Given the description of an element on the screen output the (x, y) to click on. 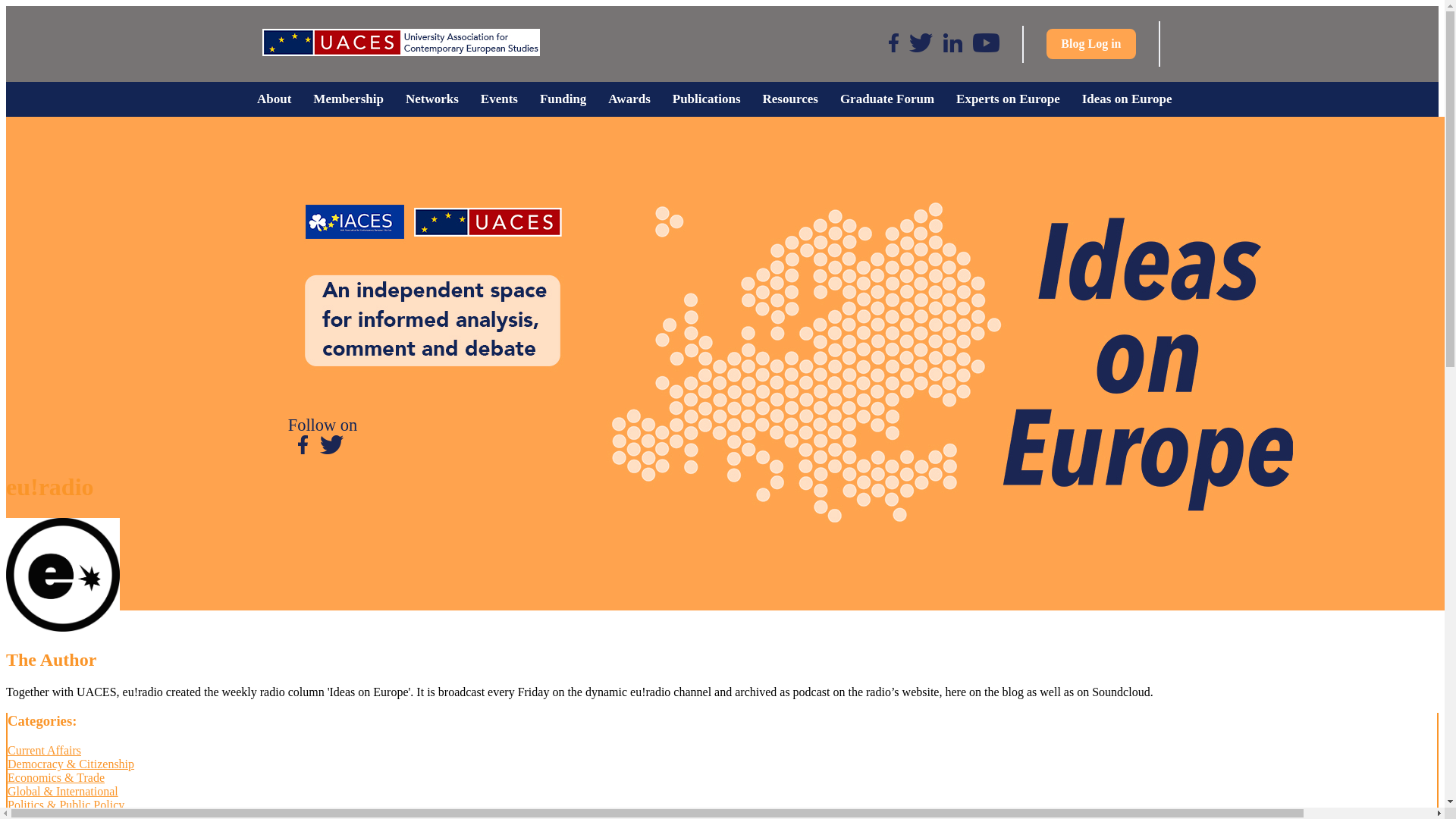
Publications (706, 99)
Networks (431, 99)
Resources (789, 99)
Funding (562, 99)
Events (498, 99)
Twitter (920, 44)
Blog Log in (1090, 43)
Graduate Forum (886, 99)
Experts on Europe (1007, 99)
Awards (628, 99)
Ideas on Europe (1126, 99)
Membership (348, 99)
Current Affairs (44, 749)
About (273, 99)
YouTube (985, 44)
